Given the description of an element on the screen output the (x, y) to click on. 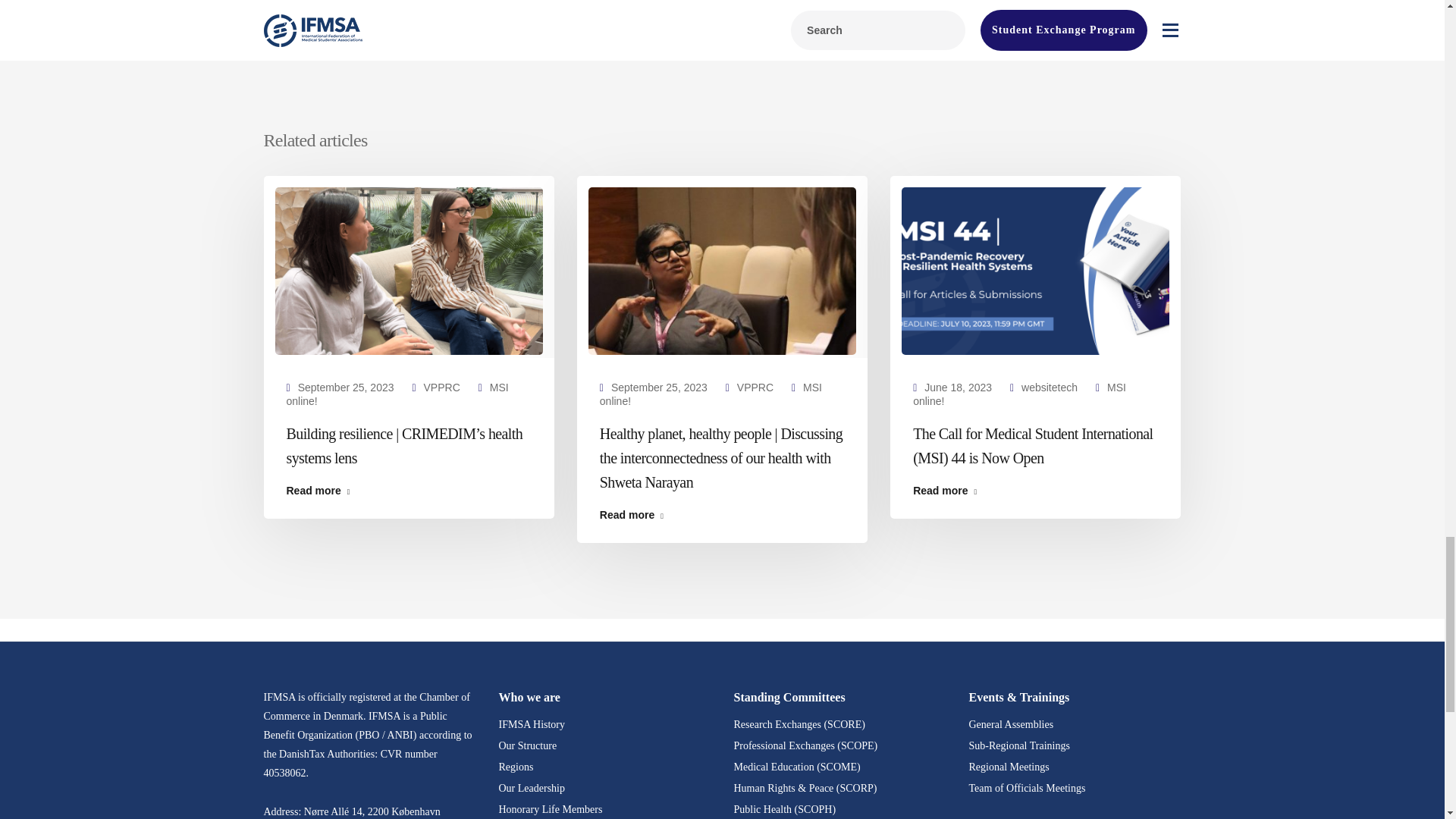
Posts by VPPRC (441, 387)
Posts by websitetech (1049, 387)
Posts by VPPRC (754, 387)
VPPRC (754, 387)
Read more (408, 490)
Read more (721, 514)
MSI online! (710, 394)
VPPRC (441, 387)
MSI online! (397, 394)
